Given the description of an element on the screen output the (x, y) to click on. 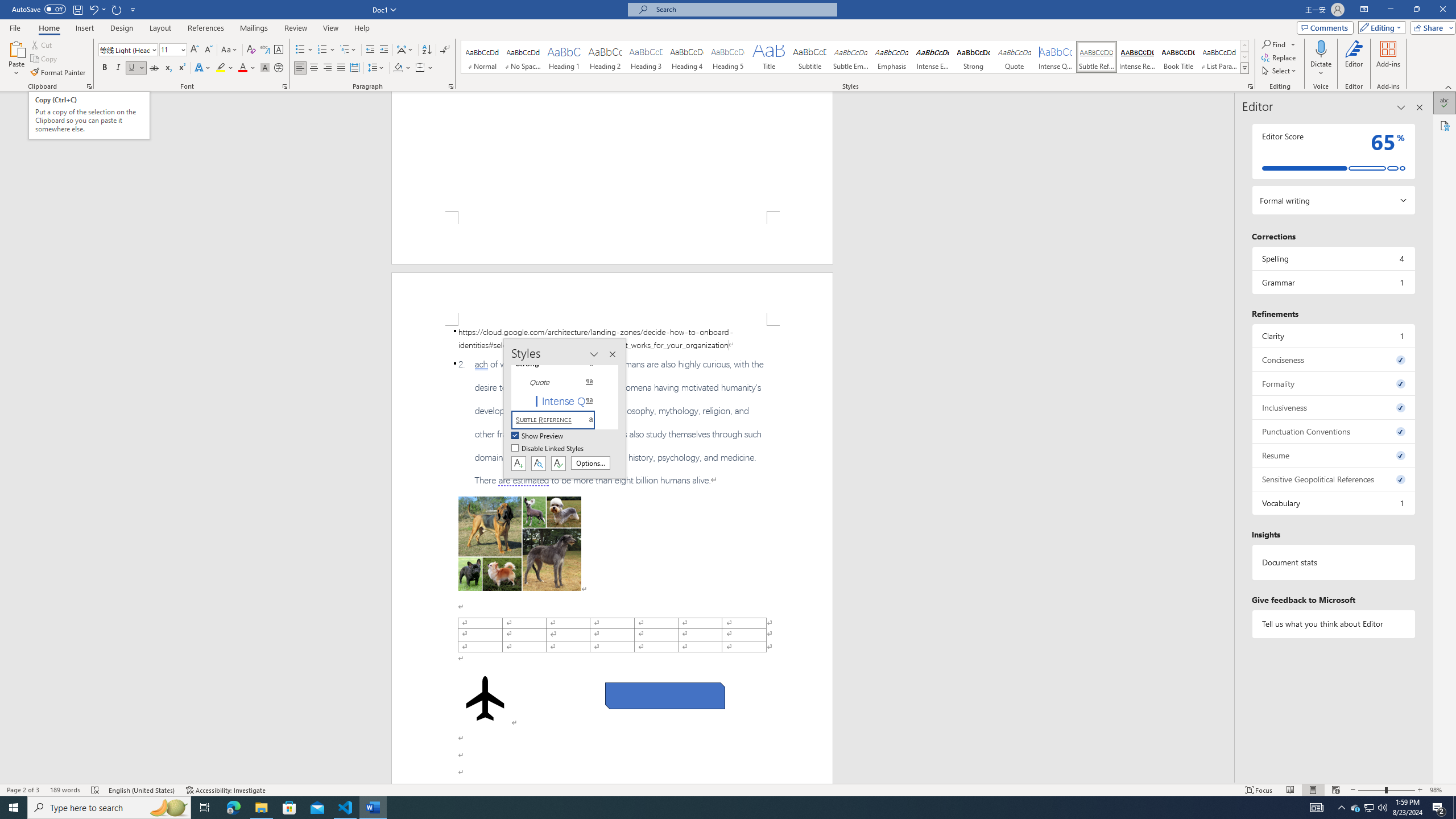
2. (611, 422)
Heading 3 (646, 56)
